Given the description of an element on the screen output the (x, y) to click on. 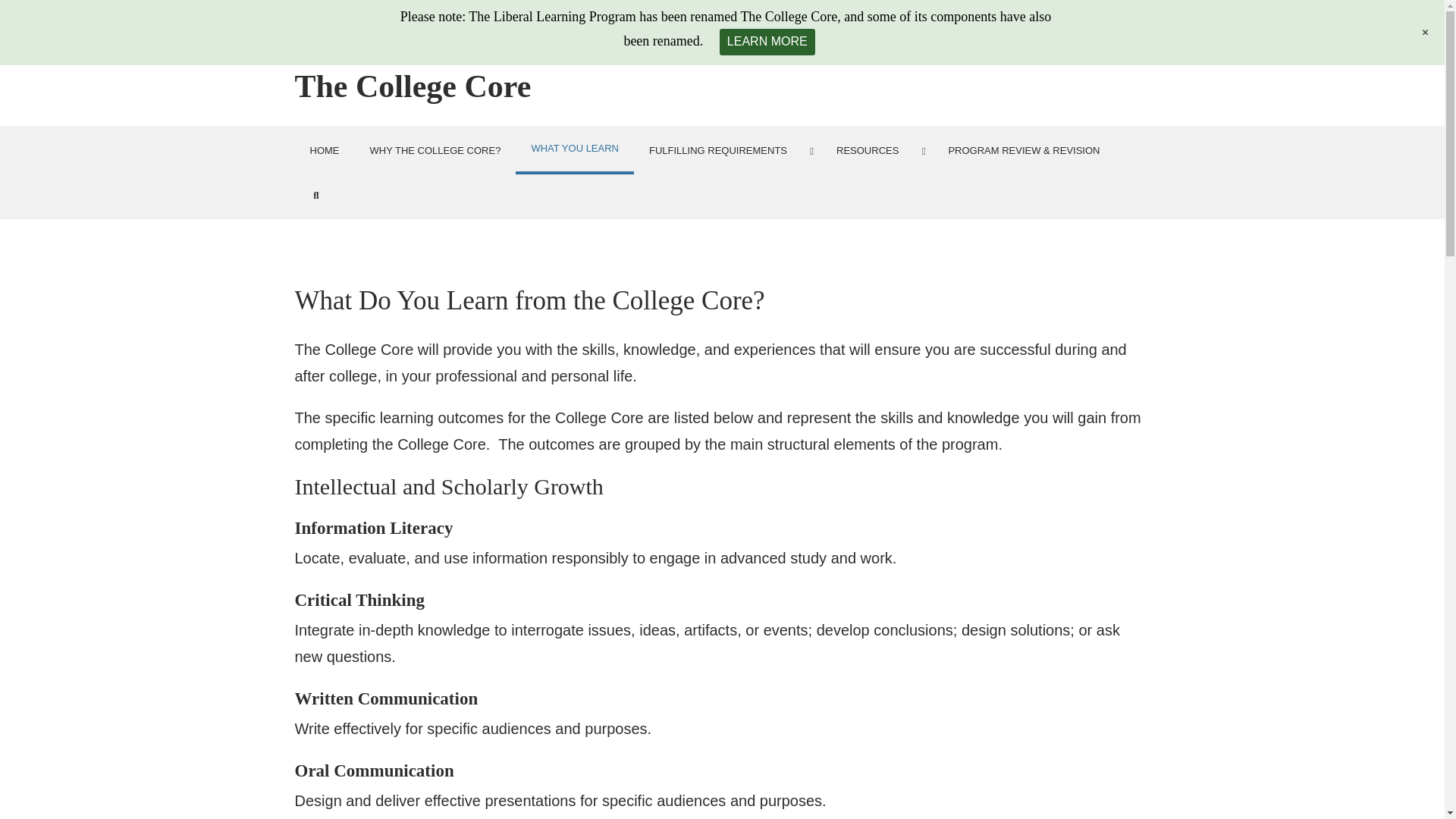
GIVE (874, 26)
VISIT (838, 26)
WHAT YOU LEARN (574, 150)
OFFICES (1040, 26)
Search (314, 194)
APPLY (798, 26)
The College Core (412, 86)
ALUMNI (932, 26)
TCNJ TODAY (1104, 26)
WHY THE COLLEGE CORE? (435, 150)
